Given the description of an element on the screen output the (x, y) to click on. 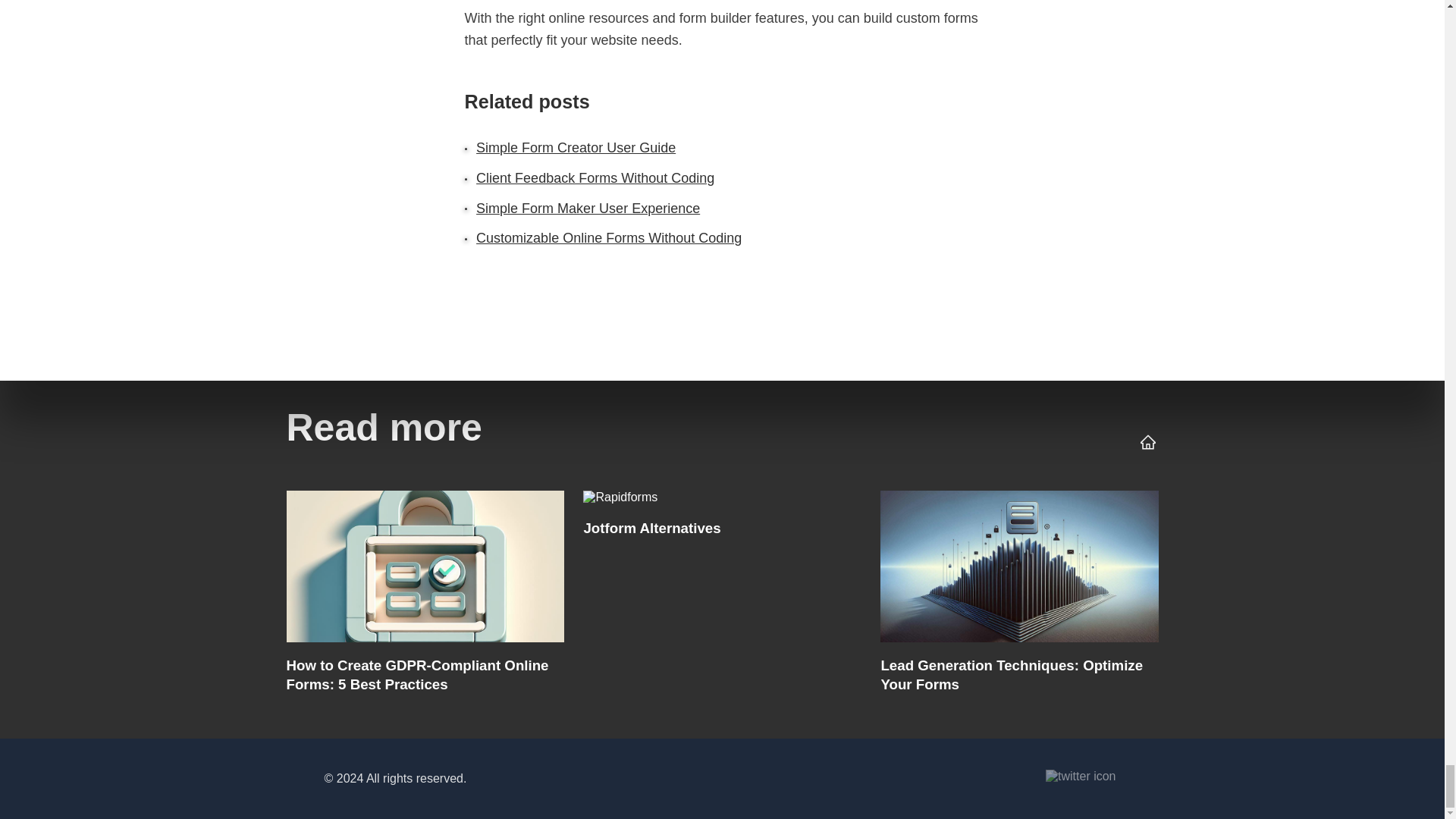
Client Feedback Forms Without Coding (595, 177)
Customizable Online Forms Without Coding (721, 595)
Simple Form Creator User Guide (575, 147)
Client Feedback Forms Without Coding (425, 595)
Good Data Management Practices for Better User Forms (1019, 595)
Customizable Online Forms Without Coding (608, 237)
Simple Form Maker User Experience (588, 208)
